Given the description of an element on the screen output the (x, y) to click on. 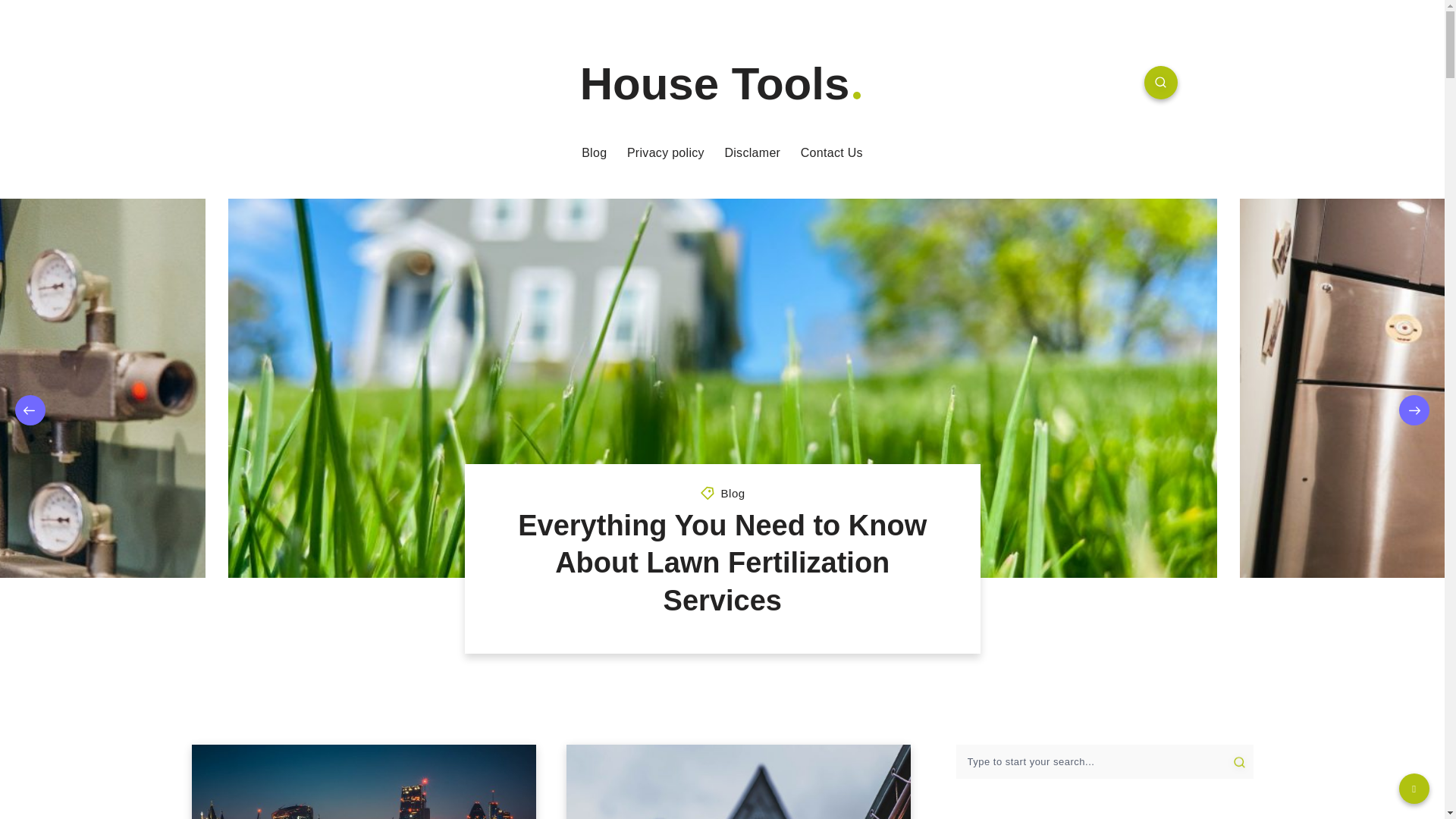
Contact Us (831, 152)
Privacy policy (665, 152)
Blog (593, 152)
Previous (29, 409)
House Tools (721, 83)
Disclamer (751, 152)
Blog (732, 492)
Next (1414, 409)
